Given the description of an element on the screen output the (x, y) to click on. 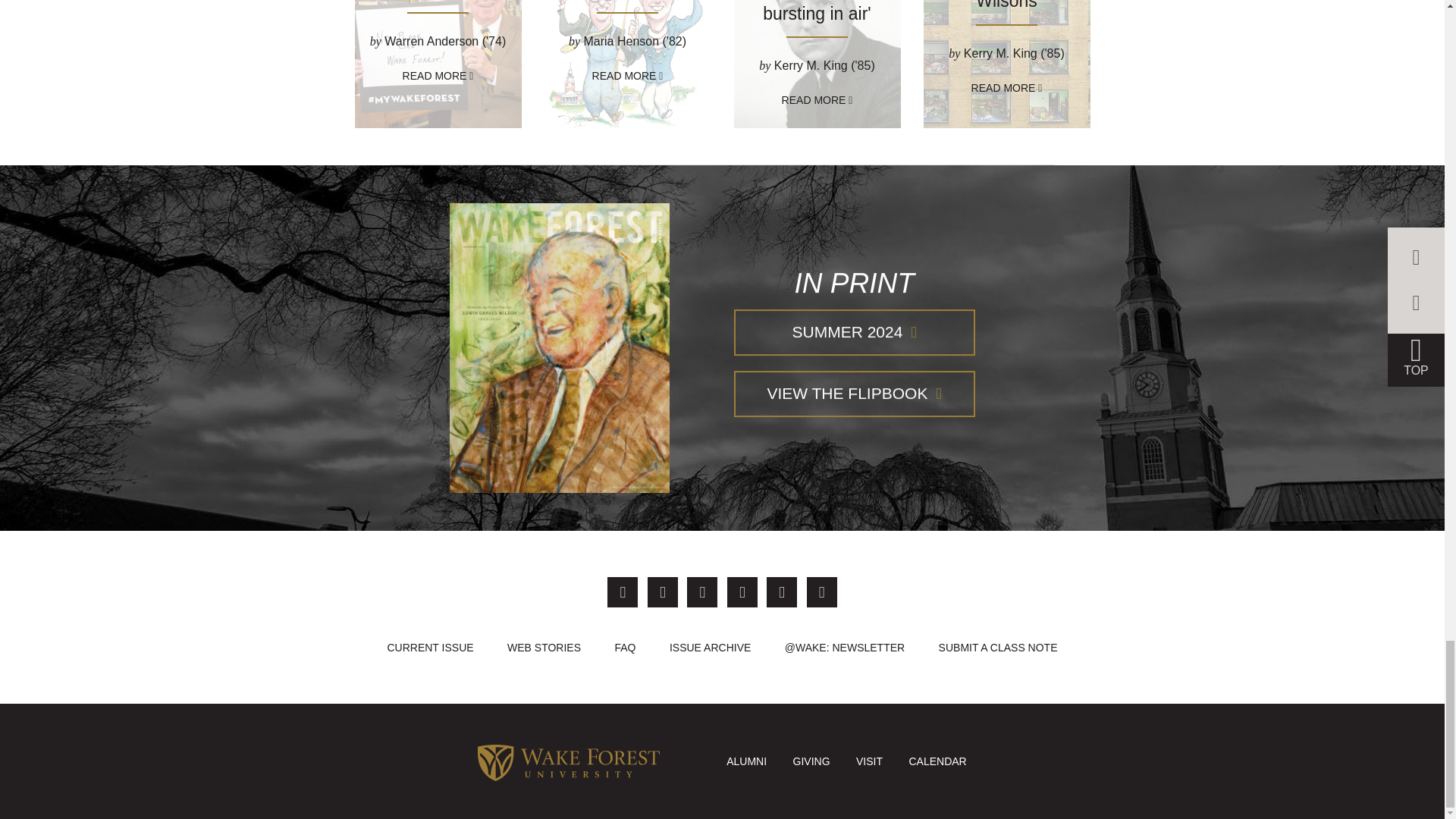
'The rockets' red glare, the bombs bursting in air' (817, 11)
READ MORE (438, 75)
Wake Forest University (568, 760)
READ MORE (817, 100)
READ MORE (627, 75)
On tour with the Wilsons (1005, 5)
